Given the description of an element on the screen output the (x, y) to click on. 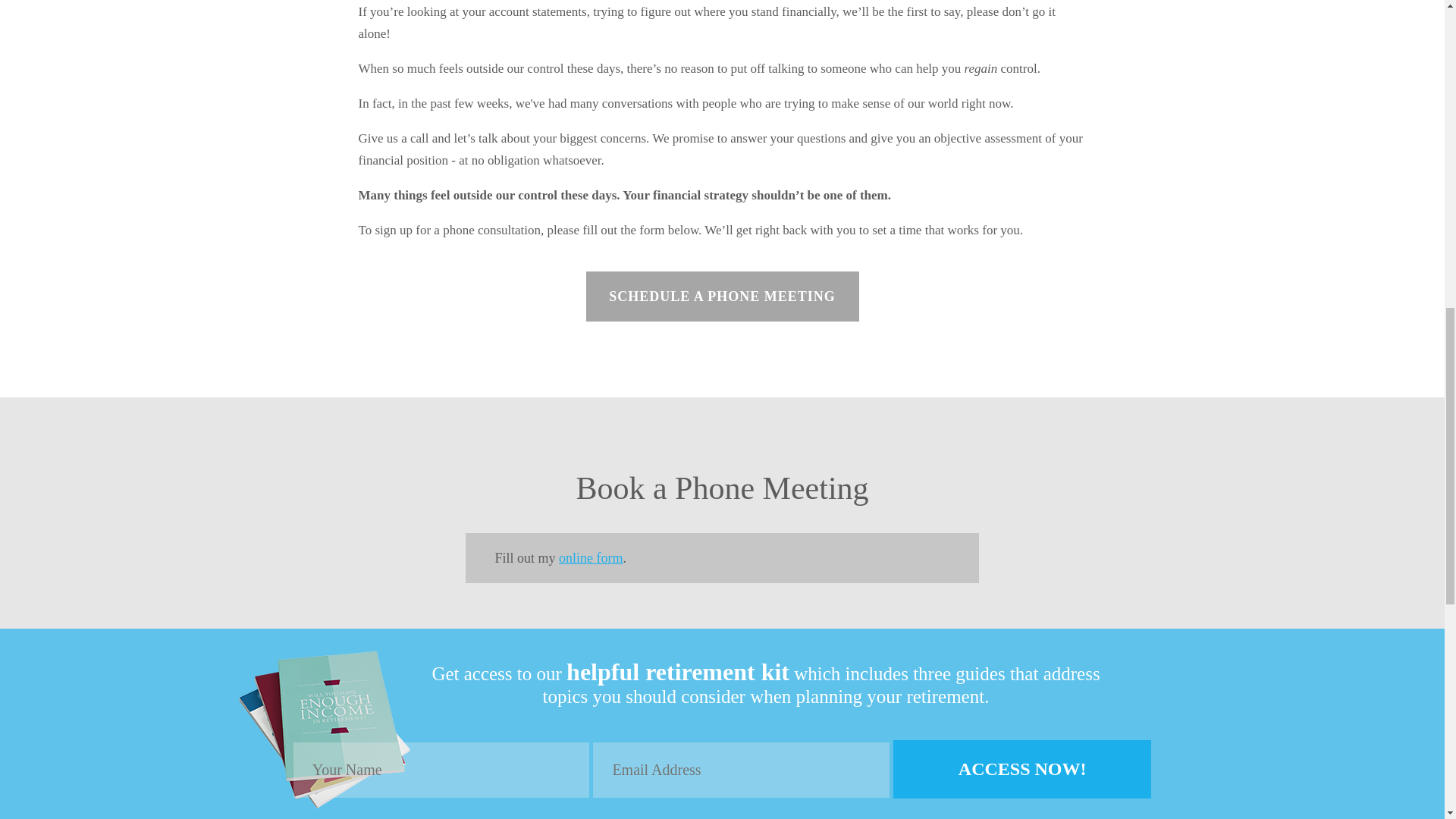
Access Now! (1022, 769)
SCHEDULE A PHONE MEETING (722, 296)
Access Now! (1022, 769)
online form (591, 557)
